Given the description of an element on the screen output the (x, y) to click on. 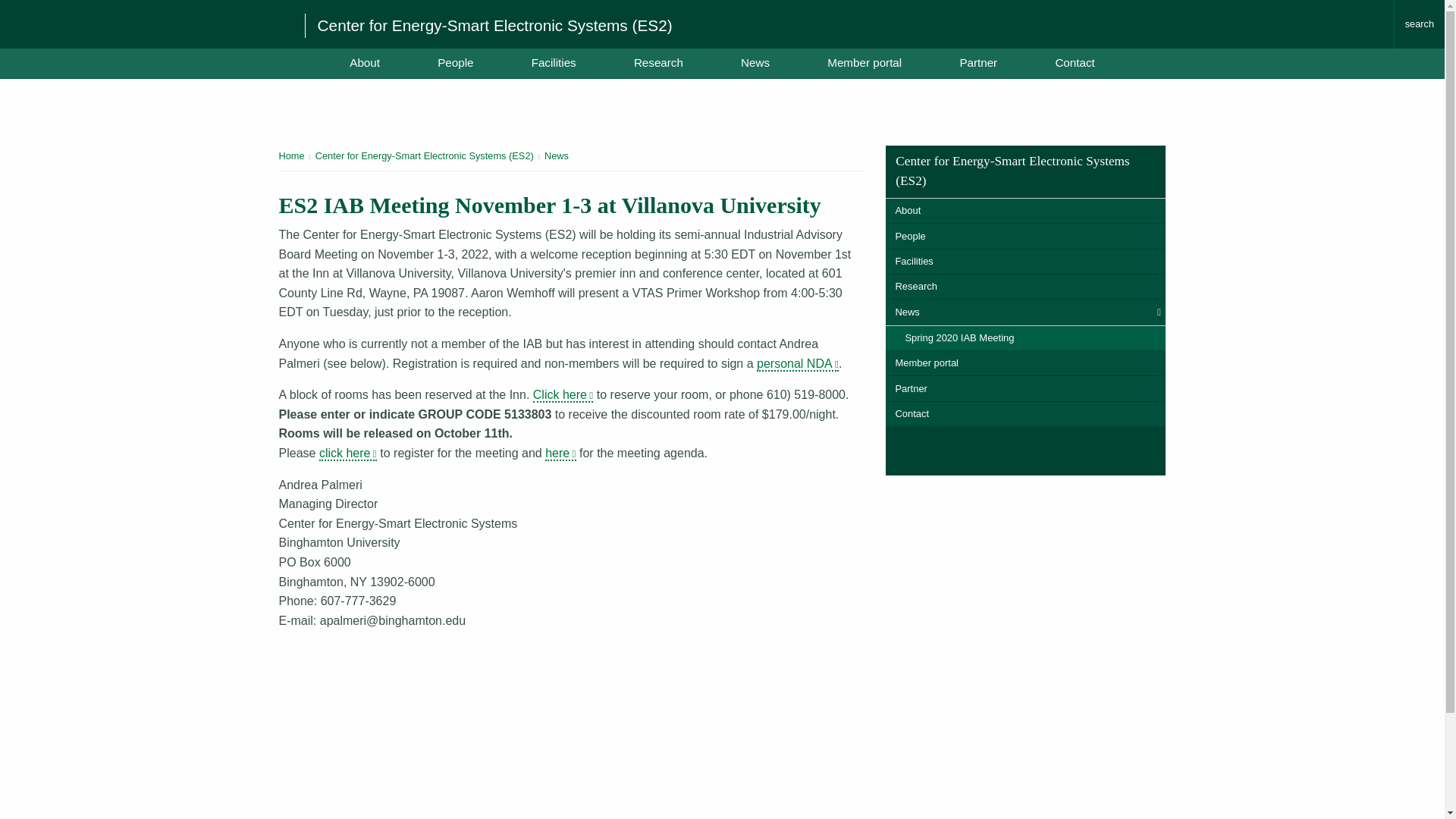
Spring 2020 IAB Meeting (1025, 338)
Research (1025, 286)
People (1025, 235)
Partner (978, 62)
People (455, 62)
Member portal (863, 62)
News (556, 155)
Facilities (553, 62)
Home (291, 155)
click here (347, 453)
Contact (1075, 62)
Member portal (1025, 363)
News (754, 62)
Binghamton University: The State University of New York (145, 22)
Click here (563, 395)
